Given the description of an element on the screen output the (x, y) to click on. 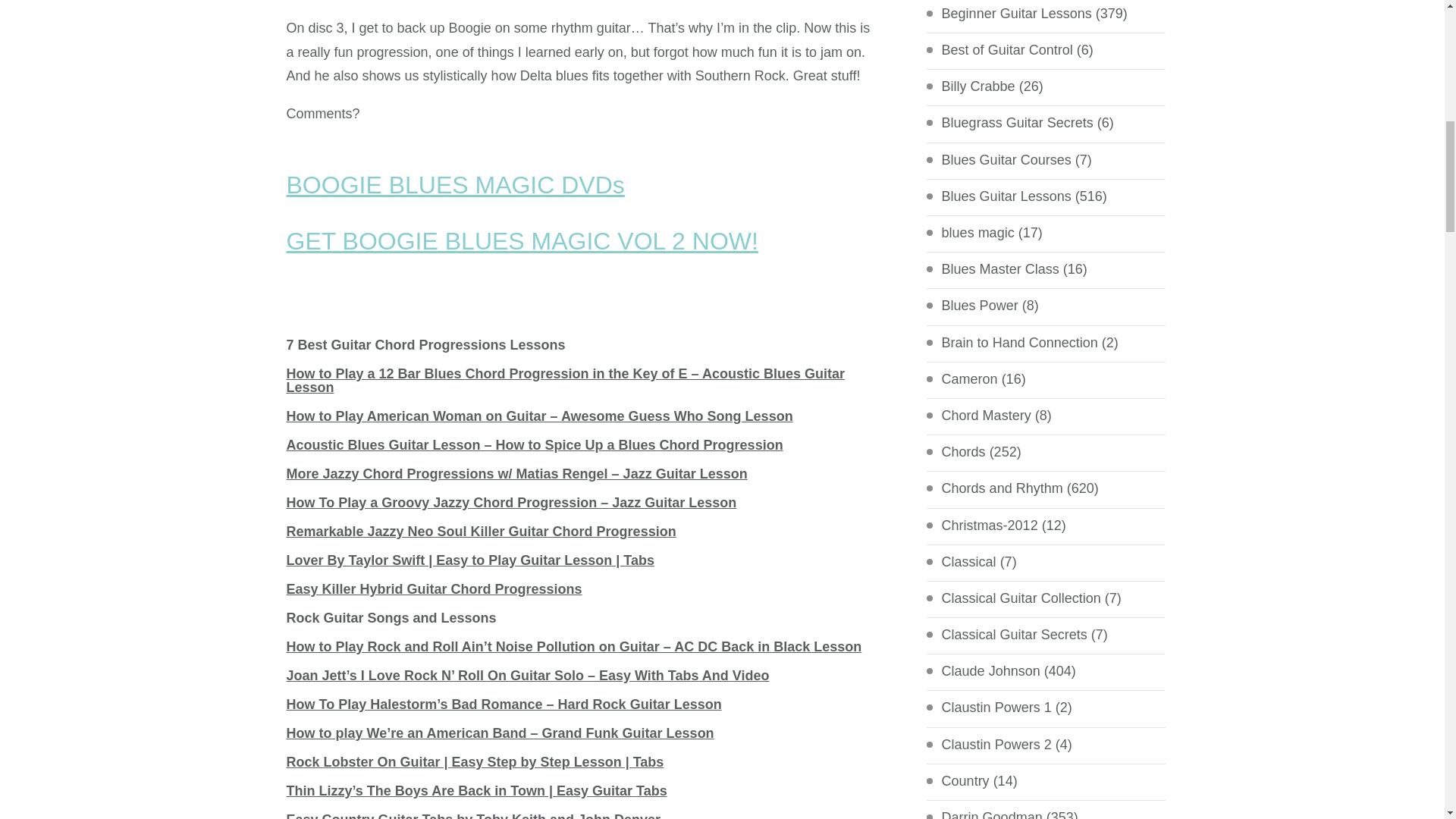
Remarkable Jazzy Neo Soul Killer Guitar Chord Progression (481, 531)
BOOGIE BLUES MAGIC DVDs (455, 185)
Easy Country Guitar Tabs by Toby Keith and John Denver (473, 815)
Easy Killer Hybrid Guitar Chord Progressions (434, 589)
GET BOOGIE BLUES MAGIC VOL 2 NOW! (522, 240)
